Given the description of an element on the screen output the (x, y) to click on. 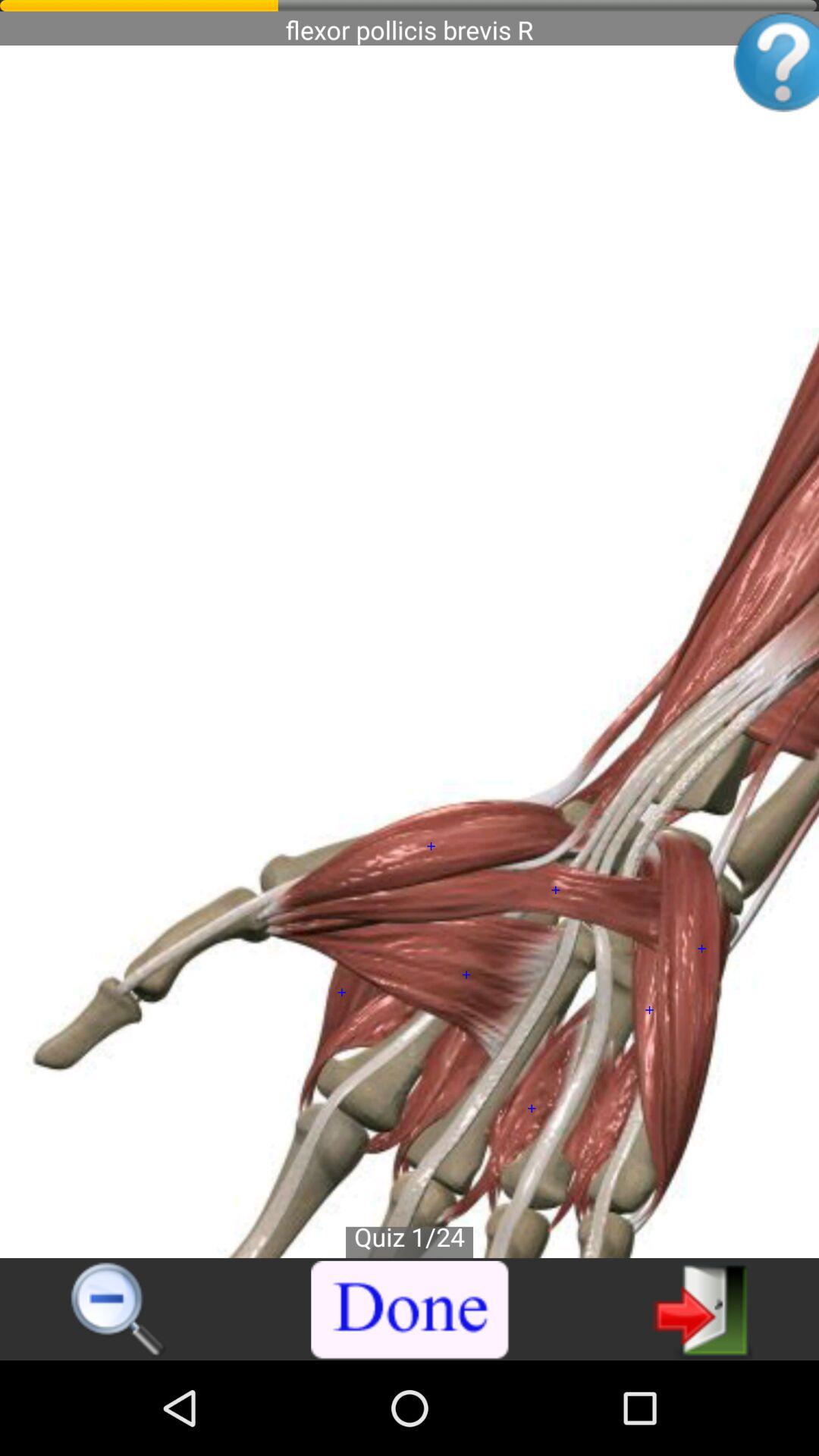
change magnification (118, 1310)
